Given the description of an element on the screen output the (x, y) to click on. 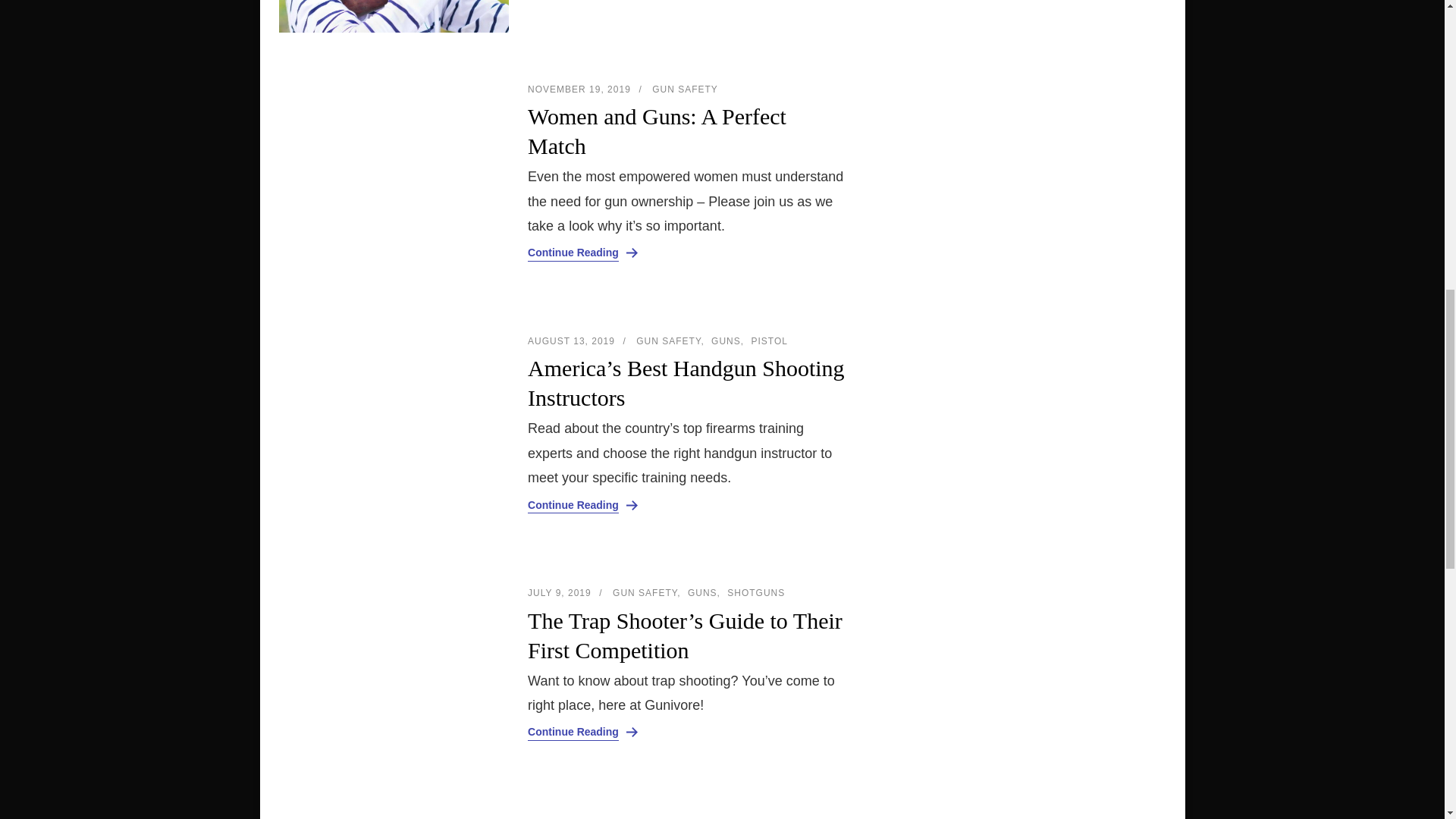
PISTOL (769, 341)
Women and Guns: A Perfect Match (687, 130)
GUN SAFETY (669, 341)
AUGUST 13, 2019 (570, 340)
Continue Reading (572, 504)
Continue Reading (572, 252)
JULY 9, 2019 (559, 593)
NOVEMBER 19, 2019 (578, 89)
GUN SAFETY (684, 89)
GUNS (727, 341)
